Given the description of an element on the screen output the (x, y) to click on. 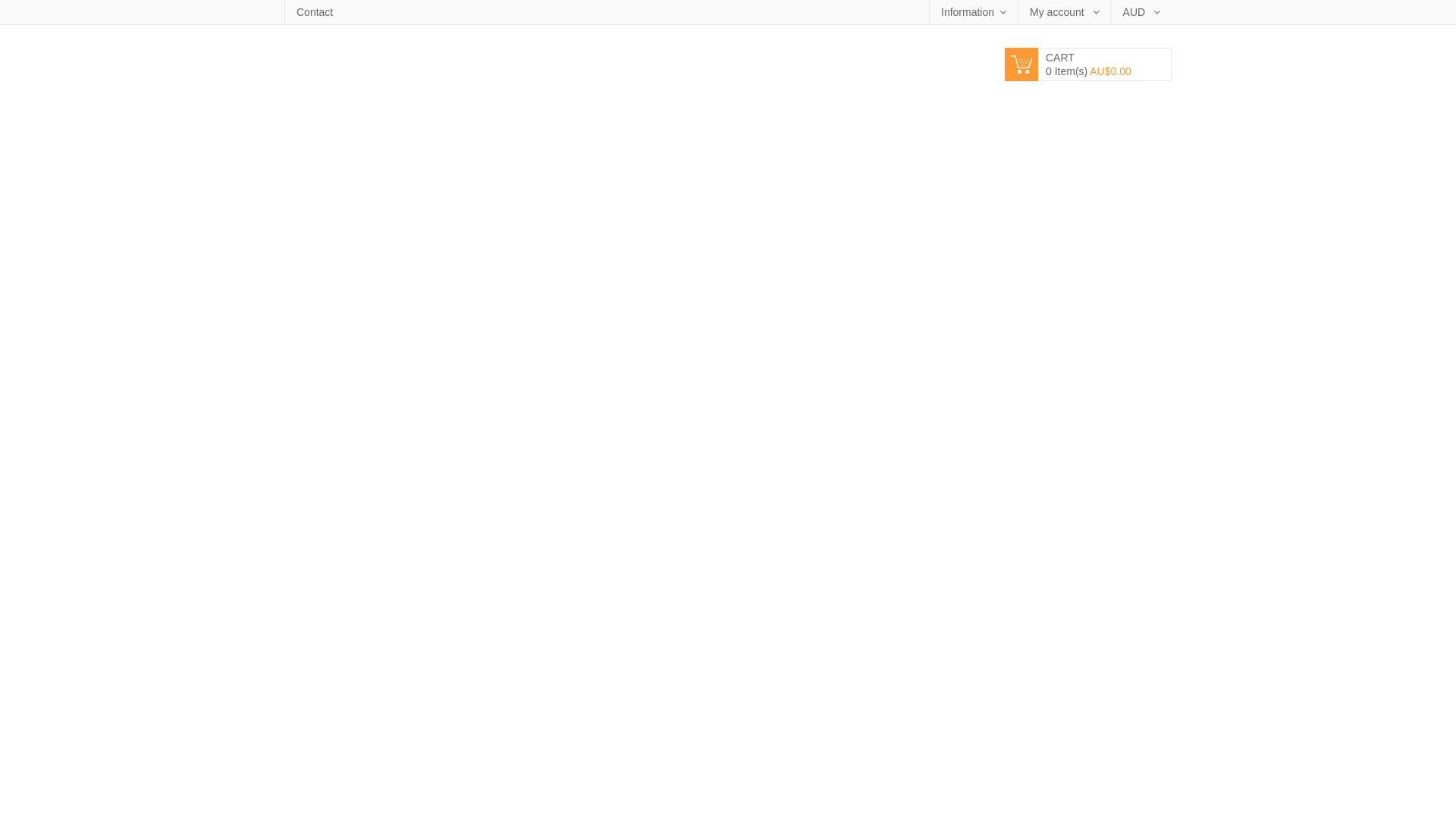
My account Element type: text (1063, 12)
Contact Element type: text (314, 12)
CART
0 Item(s)
AU$0.00 Element type: text (1087, 59)
LightingO Australia Element type: hover (386, 67)
